Given the description of an element on the screen output the (x, y) to click on. 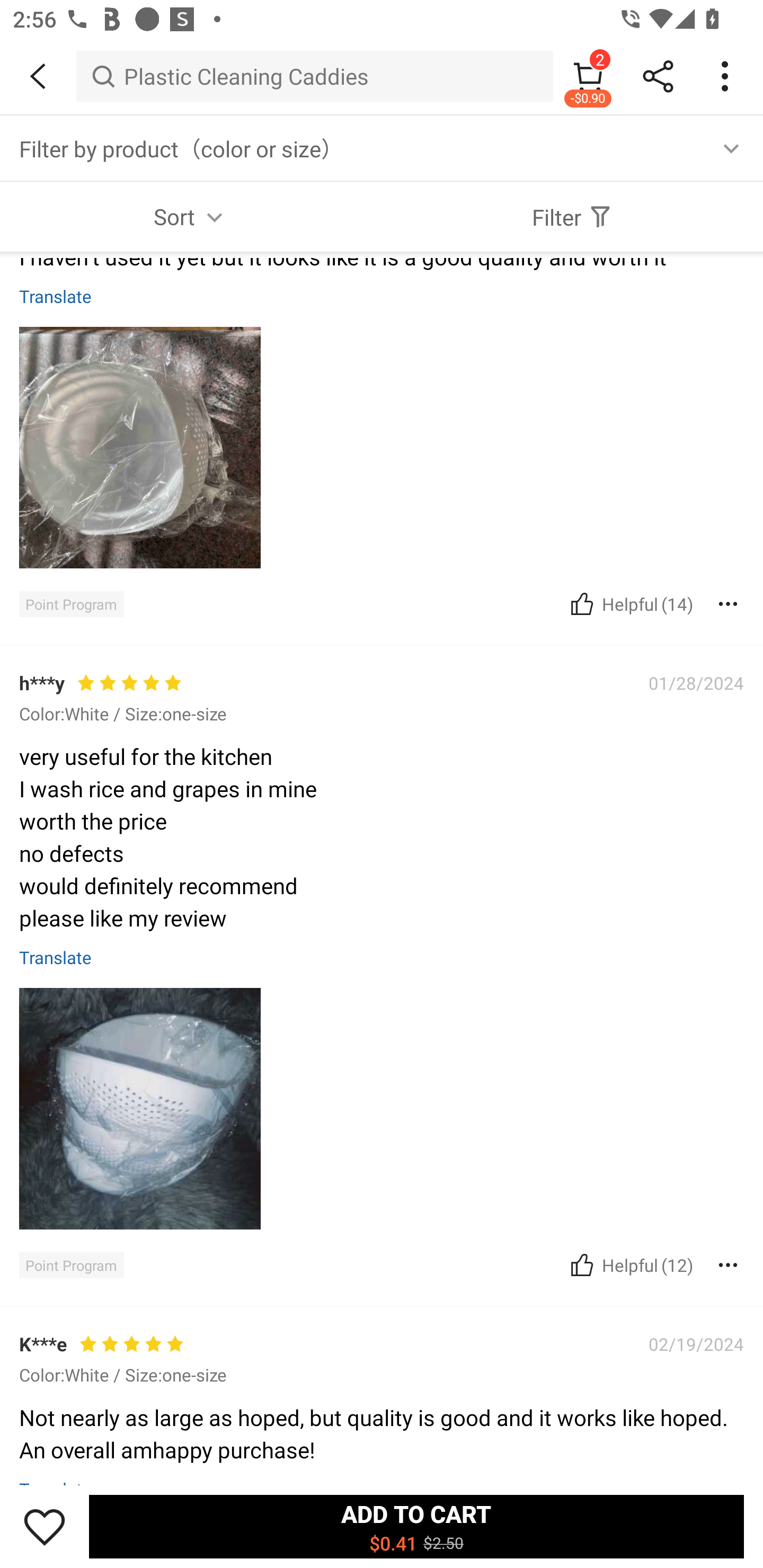
BACK (38, 75)
2 -$0.90 (588, 75)
Plastic Cleaning Caddies (314, 75)
Filter by product（color or size） (381, 148)
Sort (190, 215)
Filter (572, 215)
Translate (55, 295)
Cancel Helpful Was this article helpful? (14) (629, 603)
Point Program (71, 604)
Translate (55, 957)
Cancel Helpful Was this article helpful? (12) (629, 1265)
Point Program (71, 1264)
ADD TO CART $0.41 $2.50 (416, 1526)
Save (44, 1526)
